Given the description of an element on the screen output the (x, y) to click on. 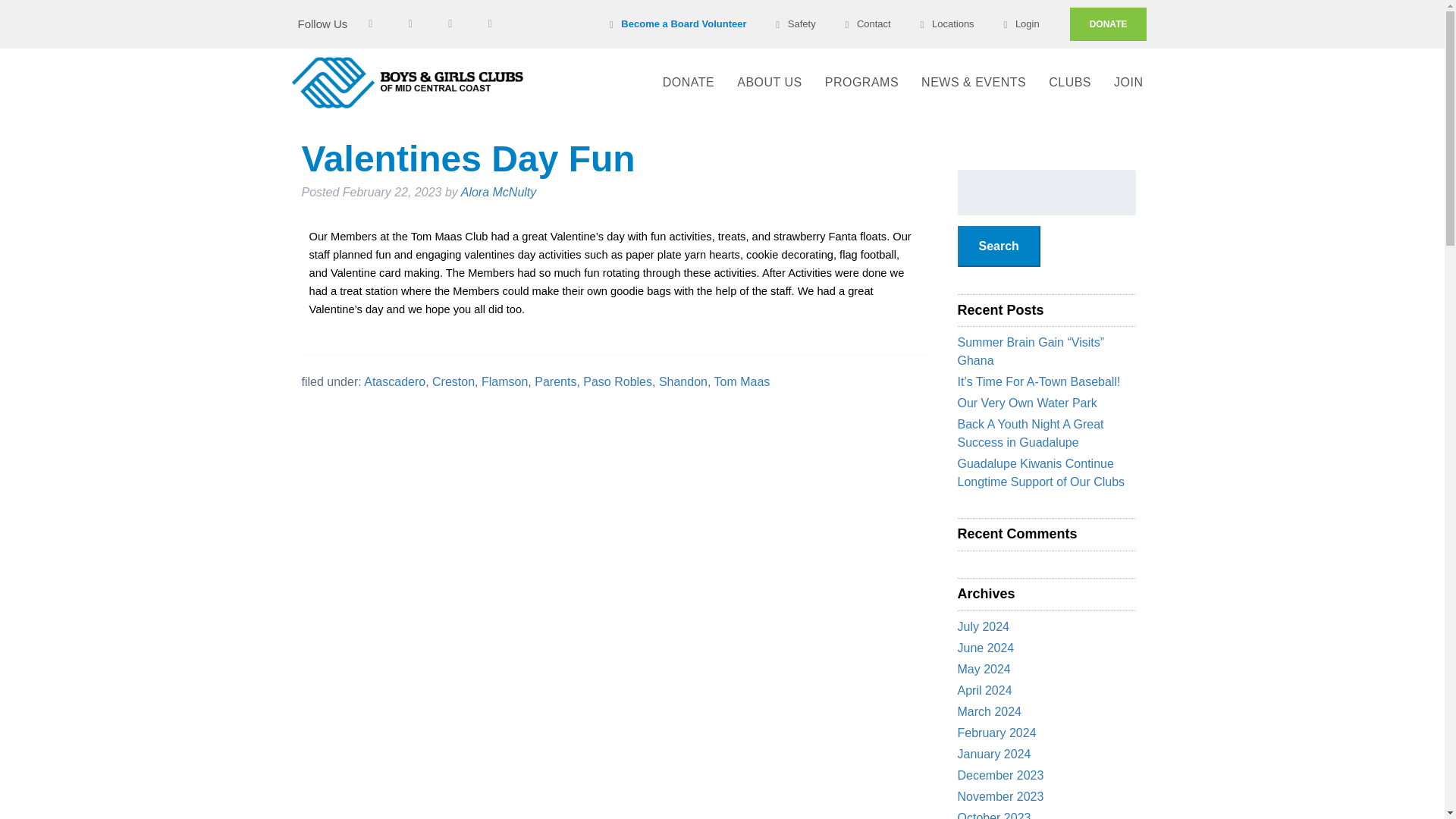
Become a Board Volunteer (675, 23)
Login (1018, 23)
Safety (793, 23)
ABOUT US (769, 82)
Locations (944, 23)
DONATE (687, 82)
PROGRAMS (861, 82)
DONATE (1108, 23)
Contact (866, 23)
